Given the description of an element on the screen output the (x, y) to click on. 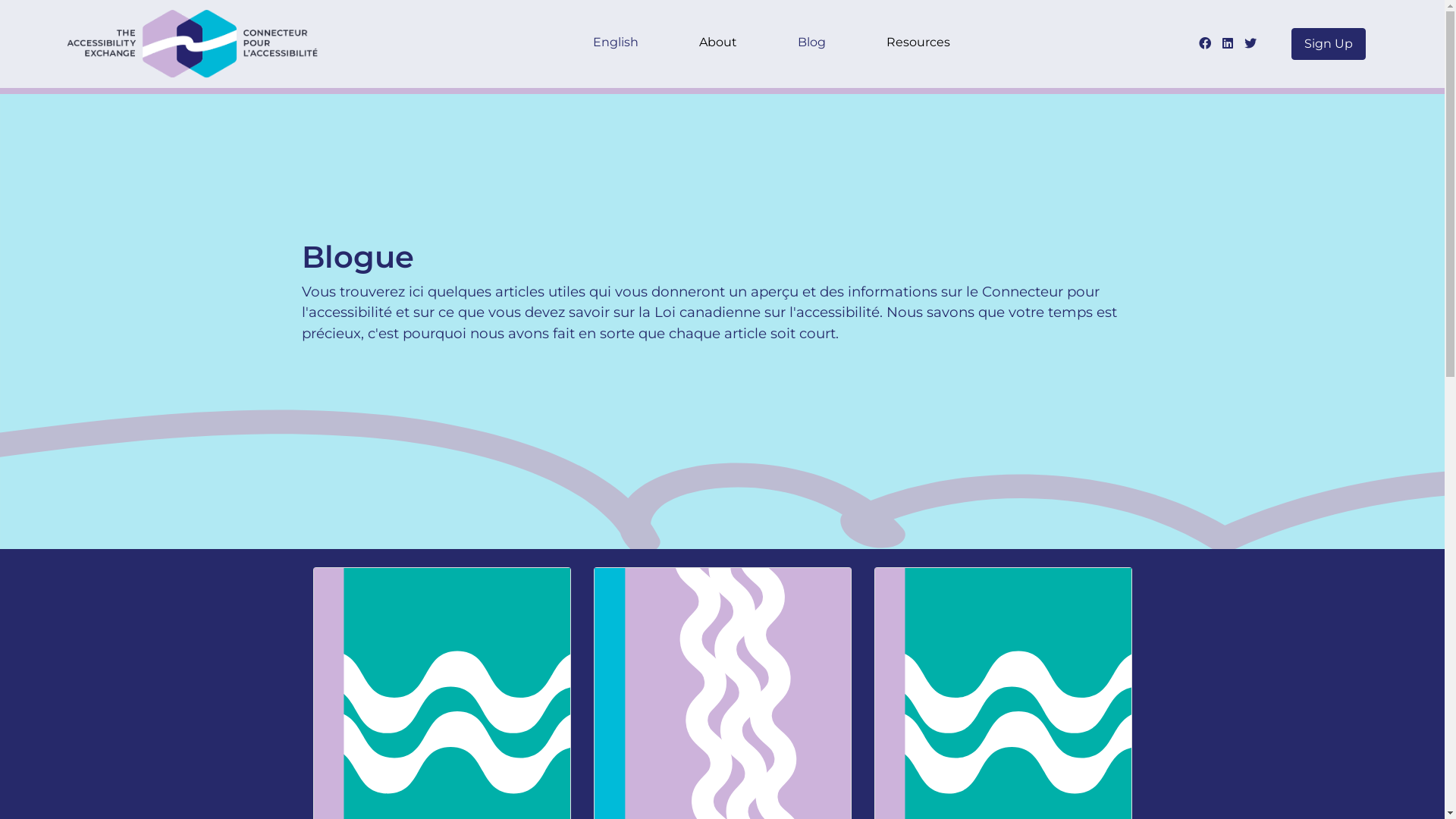
English Element type: text (615, 44)
Sign Up Element type: text (1328, 43)
Resources Element type: text (918, 44)
About Element type: text (718, 44)
Blog Element type: text (811, 44)
Aller au contenu principal Element type: text (0, 0)
